Given the description of an element on the screen output the (x, y) to click on. 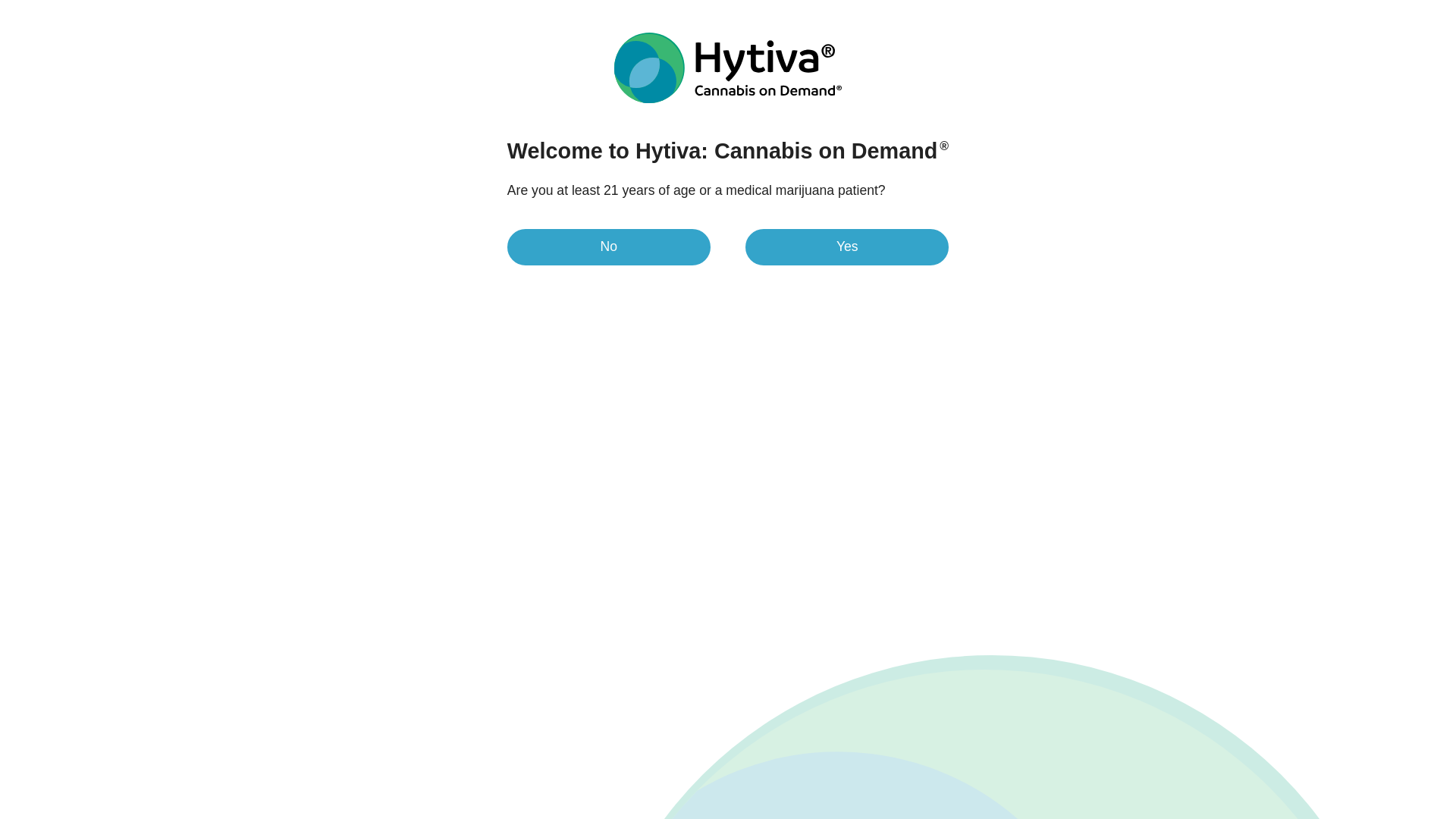
Comments (922, 274)
Search Strains, Dispensaries, Brands, and Articles (1023, 55)
Account (1249, 55)
Account (1249, 55)
FAQs (837, 274)
Search (1205, 55)
Dispensaries (444, 56)
Gallery (521, 274)
Language (1277, 10)
Buy Grape Gasoline Near You (1205, 214)
Lineage (761, 274)
Strains (378, 56)
Language (1277, 10)
Las Vegas, NV (1186, 10)
Lab Data (674, 274)
